Given the description of an element on the screen output the (x, y) to click on. 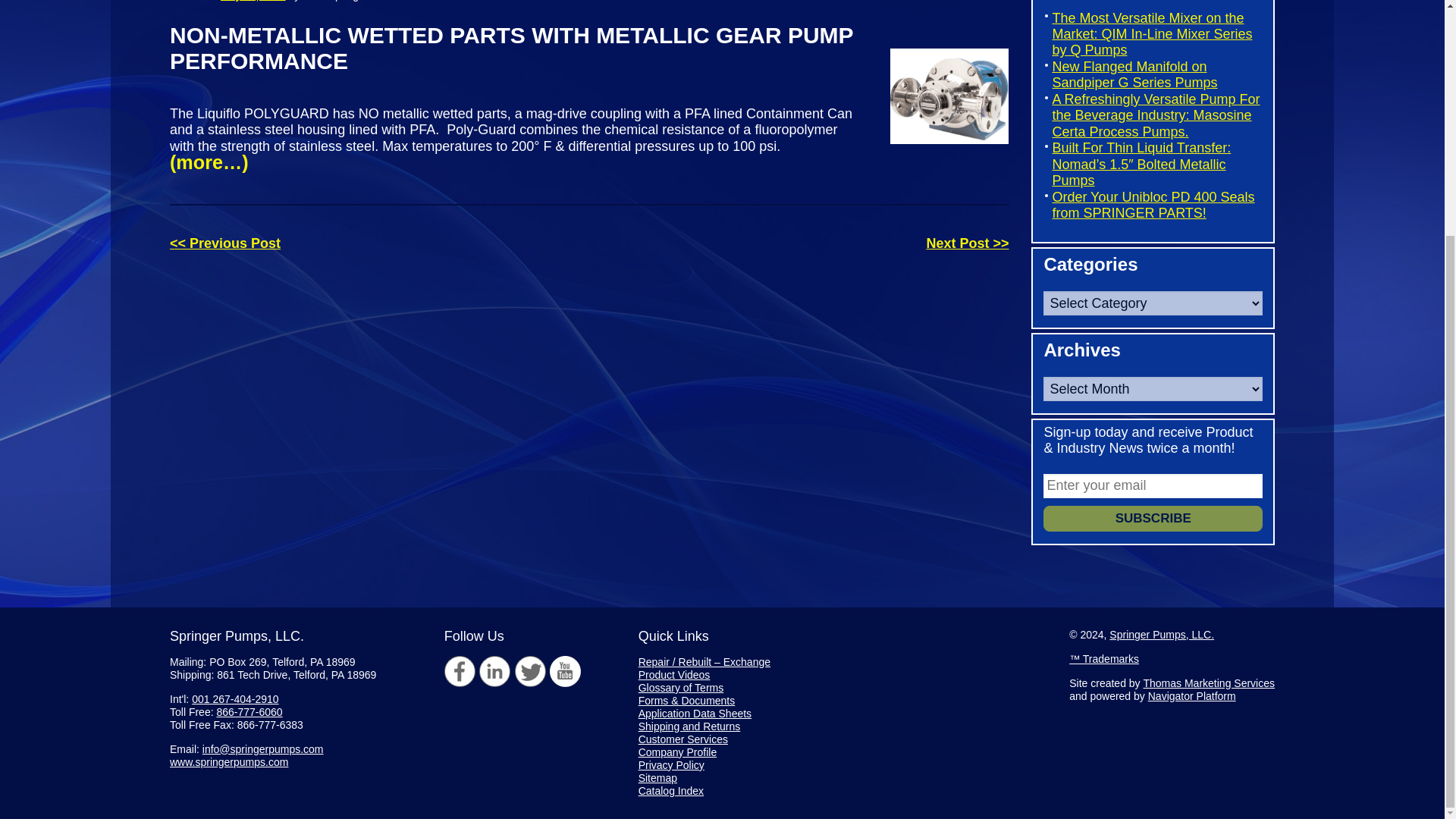
YouTube (565, 671)
Liquiflo Polyguard Pump (932, 113)
LinkedIn (495, 671)
Navigator Platform (1192, 696)
Twitter (530, 671)
Subscribe (1152, 518)
Facebook (460, 671)
